Given the description of an element on the screen output the (x, y) to click on. 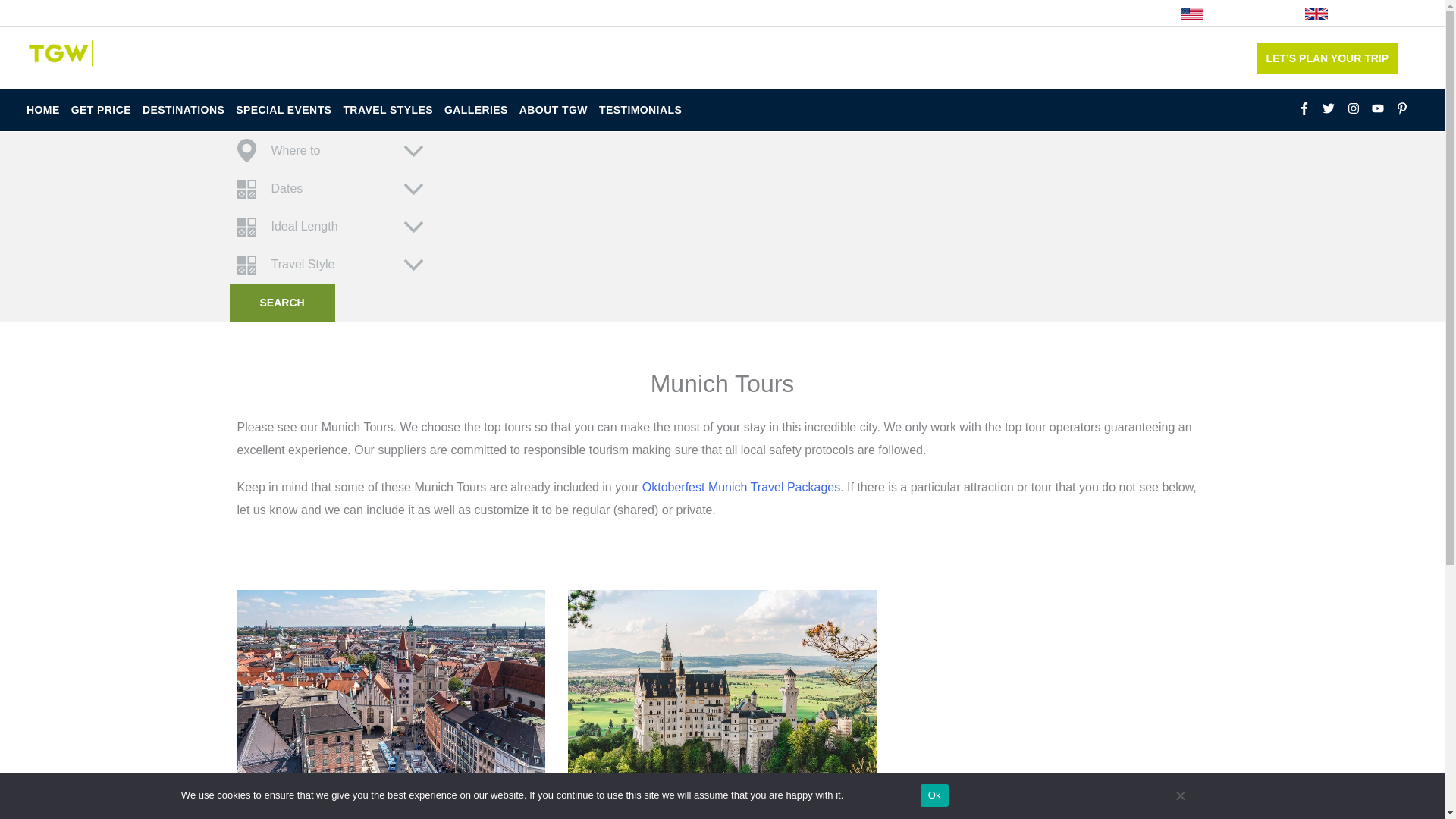
Wild O Meter (199, 12)
SiteMap (51, 12)
Travel Agents (335, 12)
1-877-456-9453 (1189, 57)
Contact Us (658, 12)
News (266, 12)
Search (281, 302)
No (1180, 795)
Travel Blog (116, 12)
Free Travel Guides (560, 12)
Links (405, 12)
Insurance (464, 12)
